Given the description of an element on the screen output the (x, y) to click on. 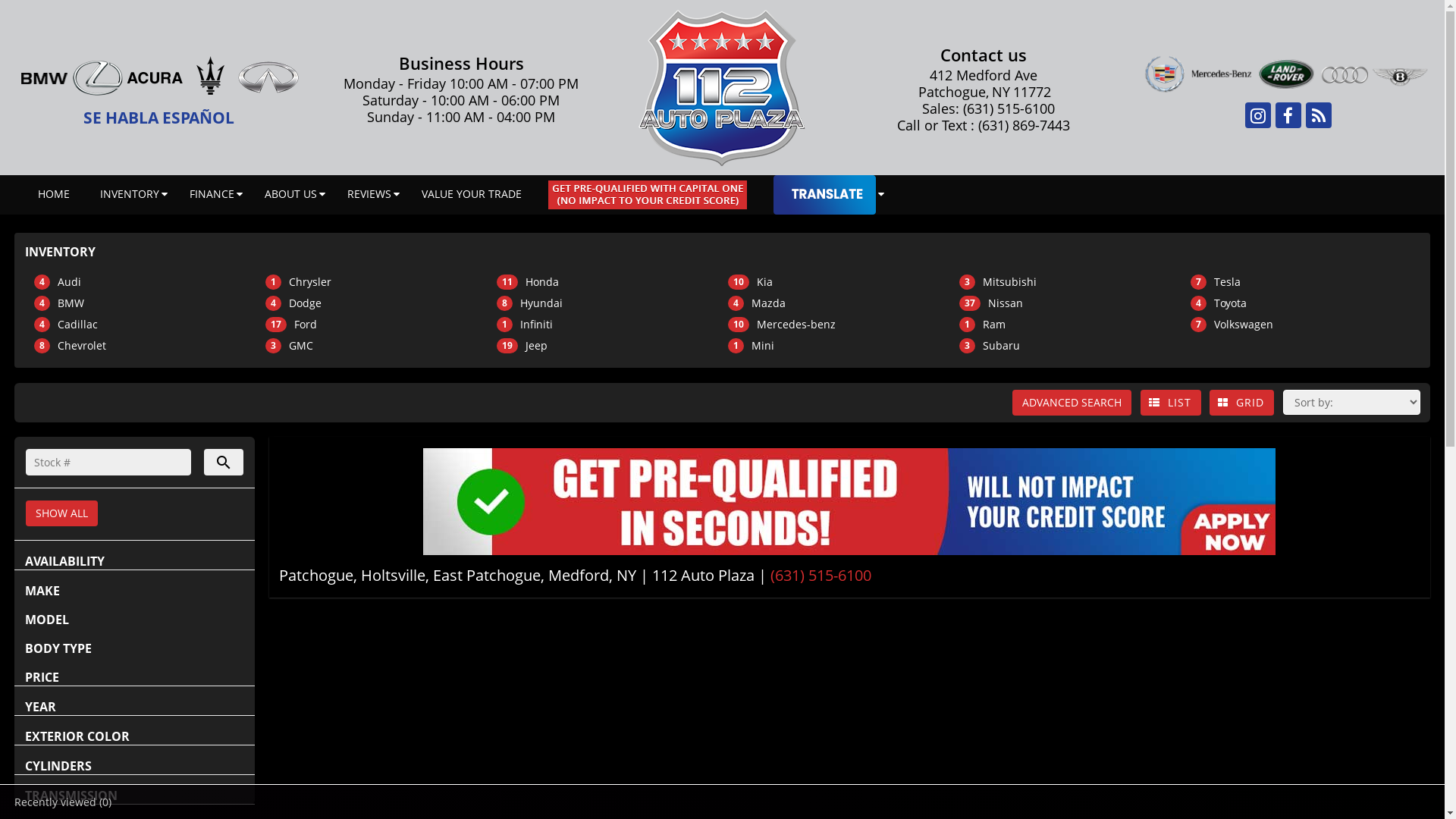
VALUE YOUR TRADE Element type: text (471, 194)
HOME Element type: text (53, 194)
  Sales: (631) 515-6100 Element type: text (982, 108)
ABOUT US Element type: text (290, 194)
ADVANCED SEARCH Element type: text (1071, 402)
Get Pre-Qualified in Seconds Element type: hover (849, 501)
Transilator Element type: hover (824, 194)
SHOW ALL Element type: text (61, 513)
search Element type: text (223, 461)
REVIEWS Element type: text (369, 194)
INVENTORY Element type: text (129, 194)
GRID Element type: text (1241, 402)
LIST Element type: text (1170, 402)
GET PRE-QUALIFIED Element type: hover (647, 194)
(631) 515-6100 Element type: text (820, 574)
FINANCE Element type: text (211, 194)
